Given the description of an element on the screen output the (x, y) to click on. 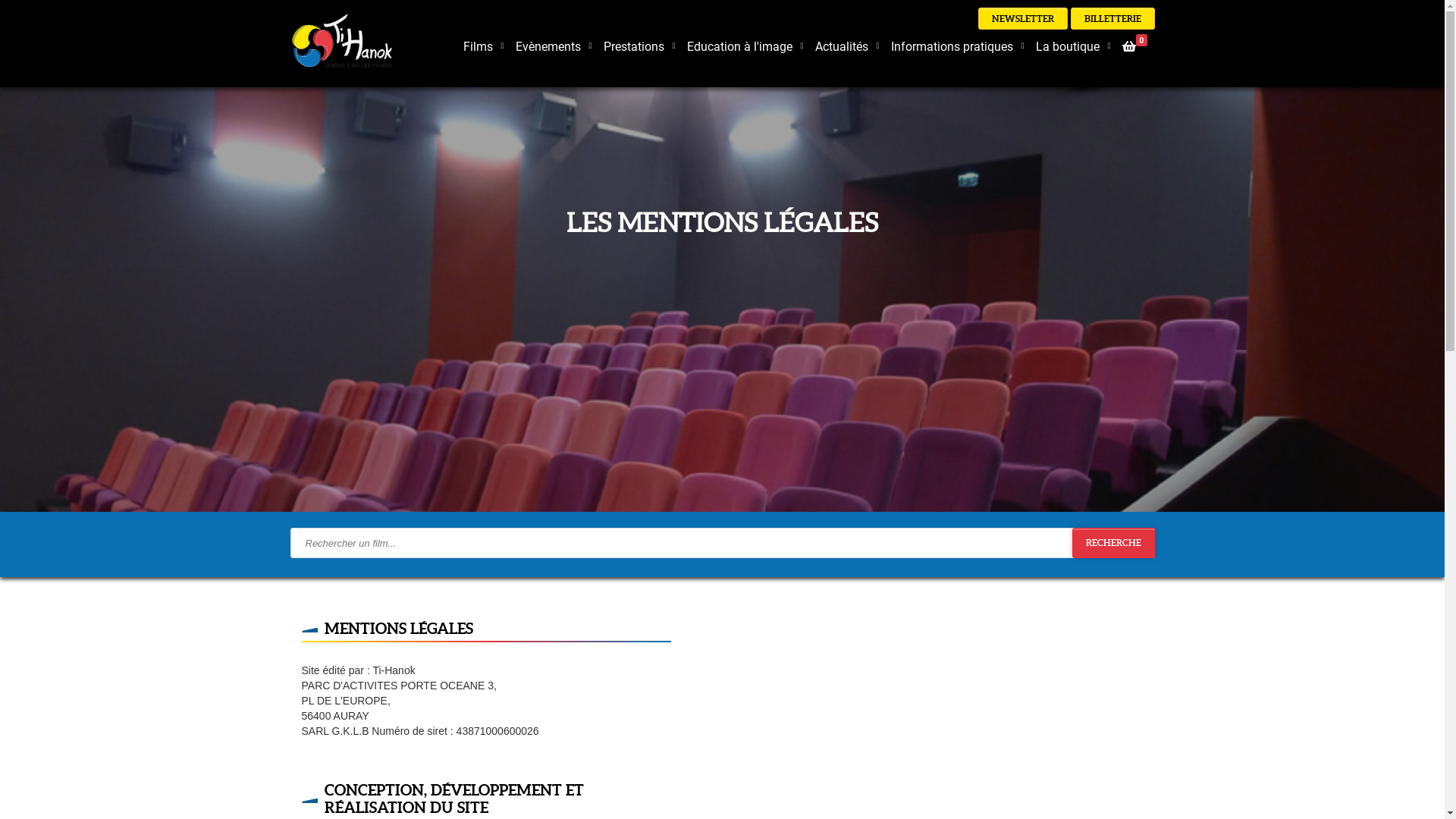
Films Element type: text (477, 46)
La boutique Element type: text (1067, 46)
RECHERCHE Element type: text (1113, 542)
Informations pratiques Element type: text (951, 46)
BILLETTERIE Element type: text (1112, 18)
Prestations Element type: text (633, 46)
NEWSLETTER Element type: text (1022, 18)
